Given the description of an element on the screen output the (x, y) to click on. 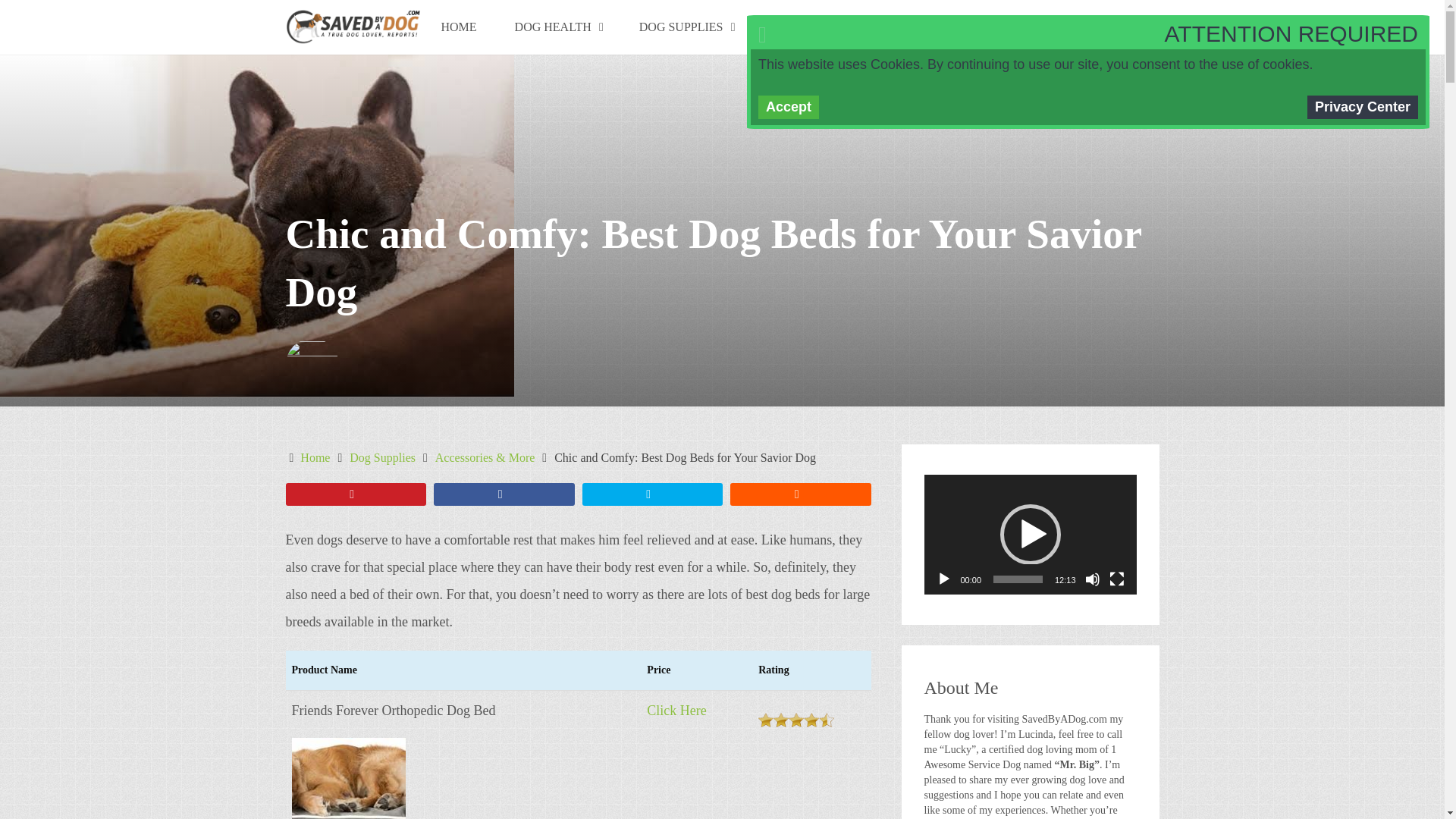
HOME (458, 27)
Dog Supplies (381, 457)
Mute (1091, 579)
Fullscreen (1116, 579)
Play (943, 579)
DOG HEALTH (558, 27)
DOG TRAINING (818, 27)
Home (314, 457)
DOG SUPPLIES (686, 27)
Click Here (676, 710)
LEGAL (930, 27)
